Given the description of an element on the screen output the (x, y) to click on. 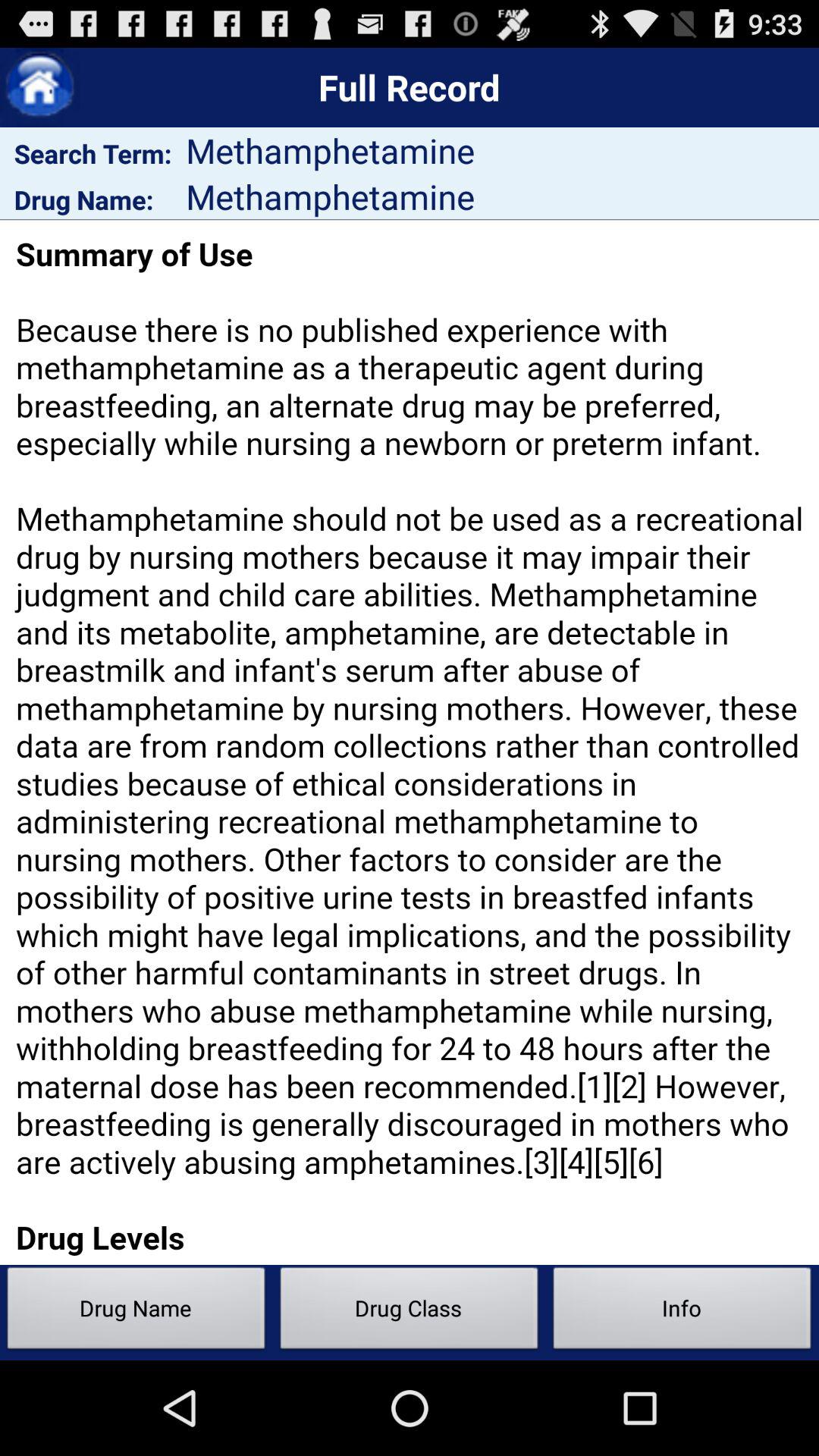
home (39, 87)
